Given the description of an element on the screen output the (x, y) to click on. 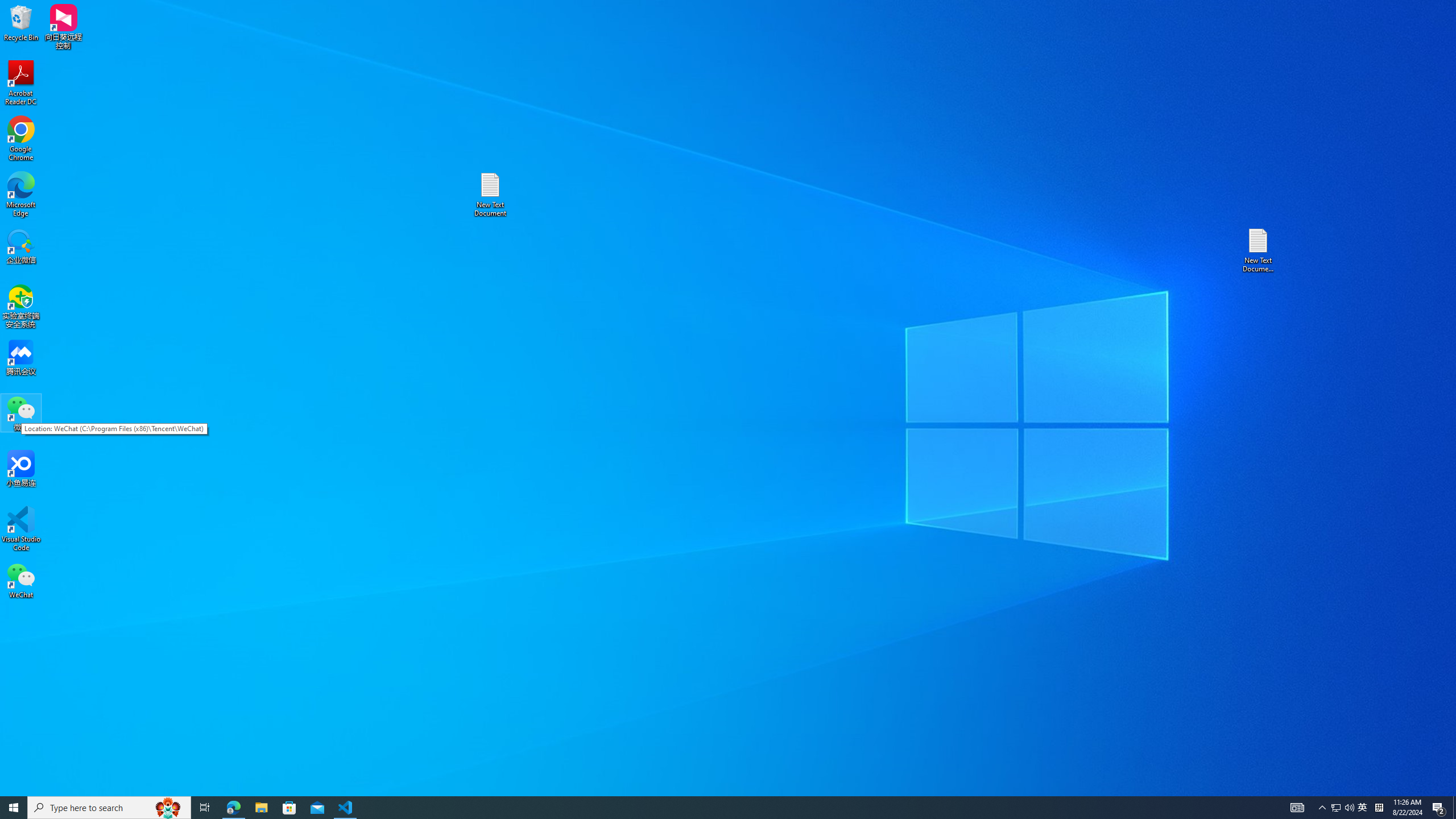
Google Chrome (21, 138)
Recycle Bin (21, 22)
New Text Document (2) (1258, 250)
Visual Studio Code - 1 running window (345, 807)
Microsoft Store (289, 807)
Type here to search (108, 807)
Q2790: 100% (1362, 807)
Microsoft Edge (1349, 807)
Tray Input Indicator - Chinese (Simplified, China) (21, 194)
New Text Document (1378, 807)
AutomationID: 4105 (489, 194)
